Given the description of an element on the screen output the (x, y) to click on. 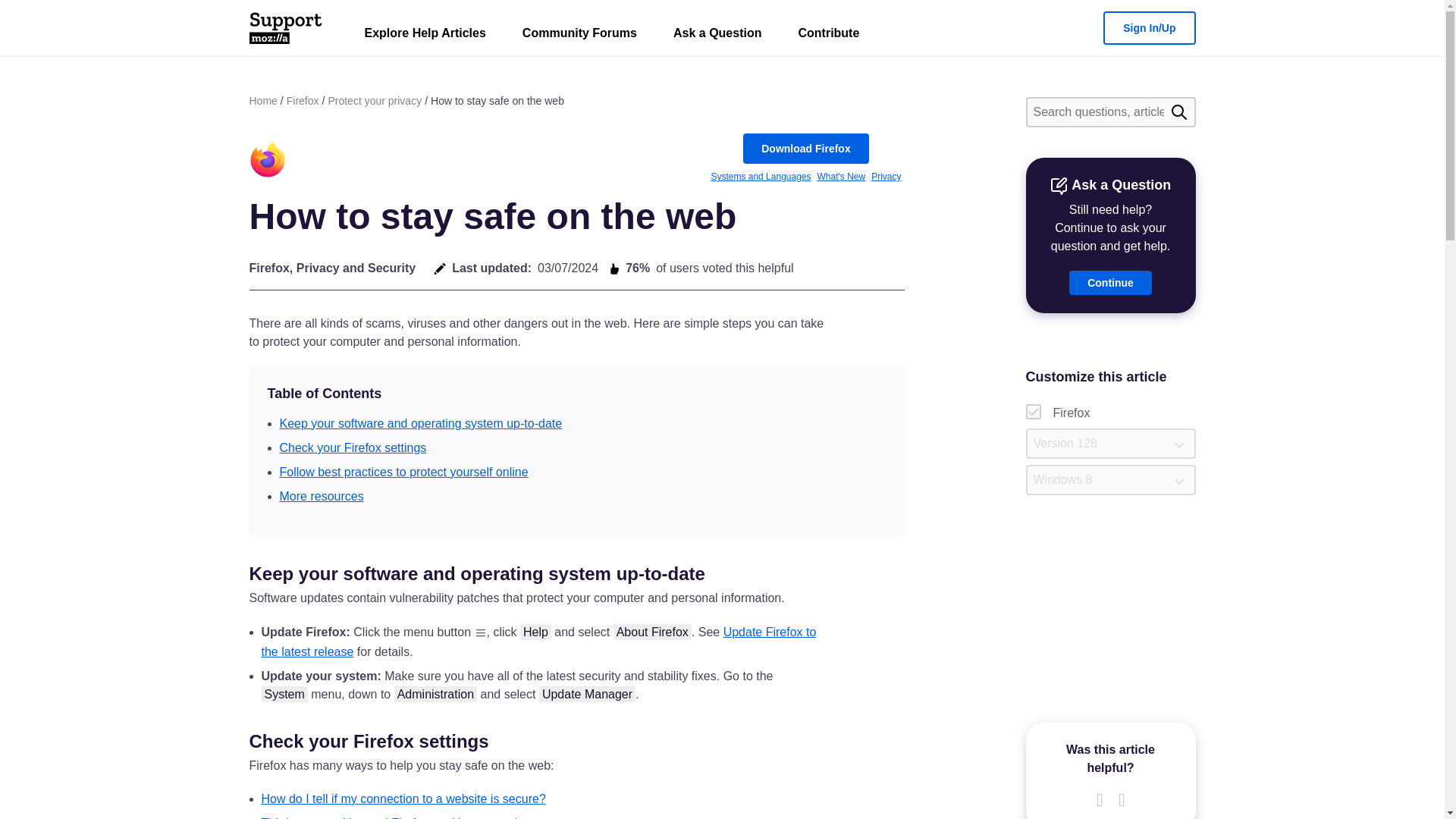
Search (1178, 111)
Ask a Question (716, 37)
Community Forums (579, 37)
Explore Help Articles (424, 37)
